Given the description of an element on the screen output the (x, y) to click on. 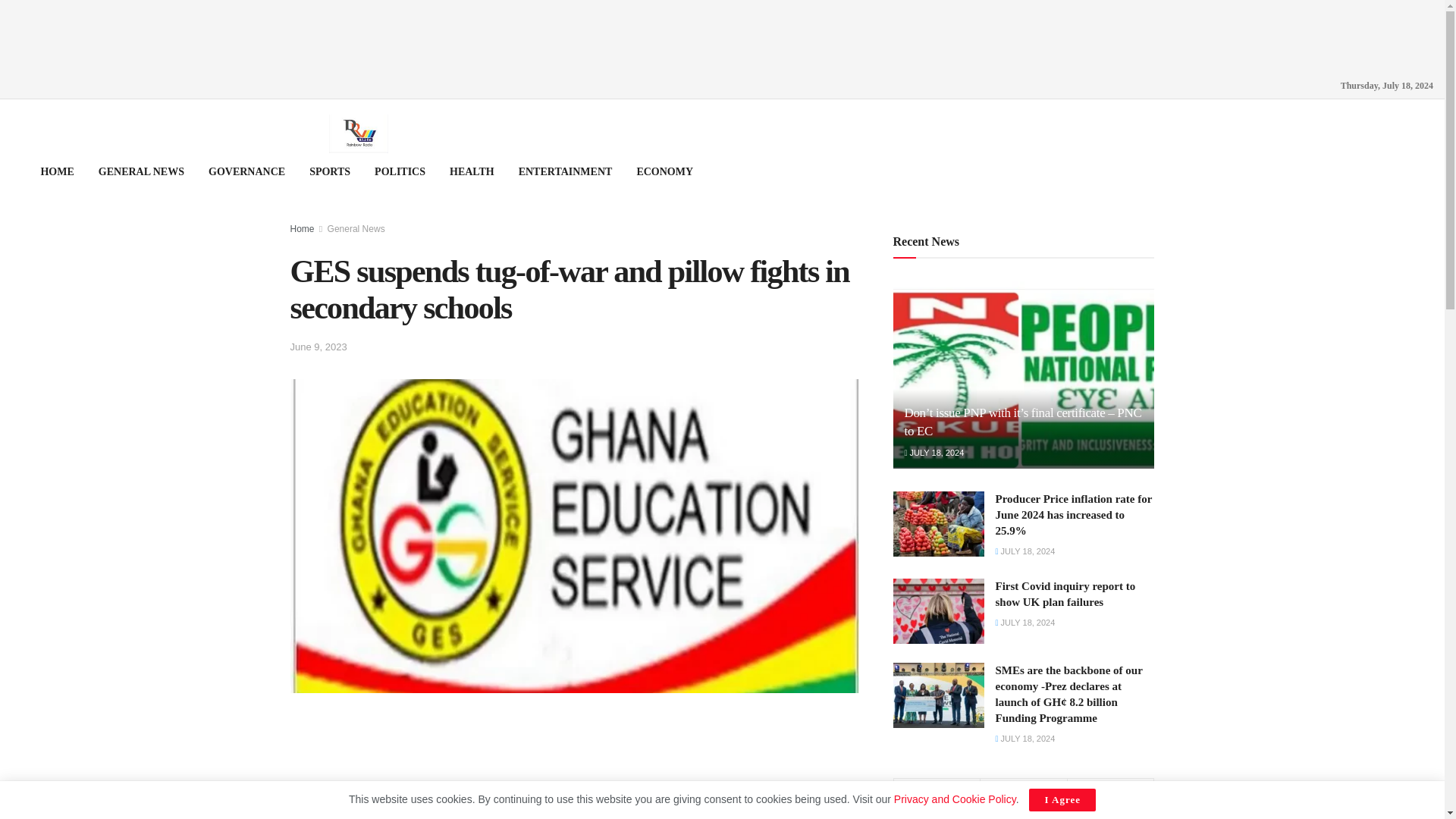
SPORTS (329, 171)
Advertisement (722, 33)
ECONOMY (664, 171)
General News (356, 228)
June 9, 2023 (317, 346)
POLITICS (400, 171)
ENTERTAINMENT (565, 171)
GENERAL NEWS (140, 171)
HEALTH (472, 171)
Advertisement (574, 749)
GOVERNANCE (246, 171)
Home (301, 228)
HOME (56, 171)
